Given the description of an element on the screen output the (x, y) to click on. 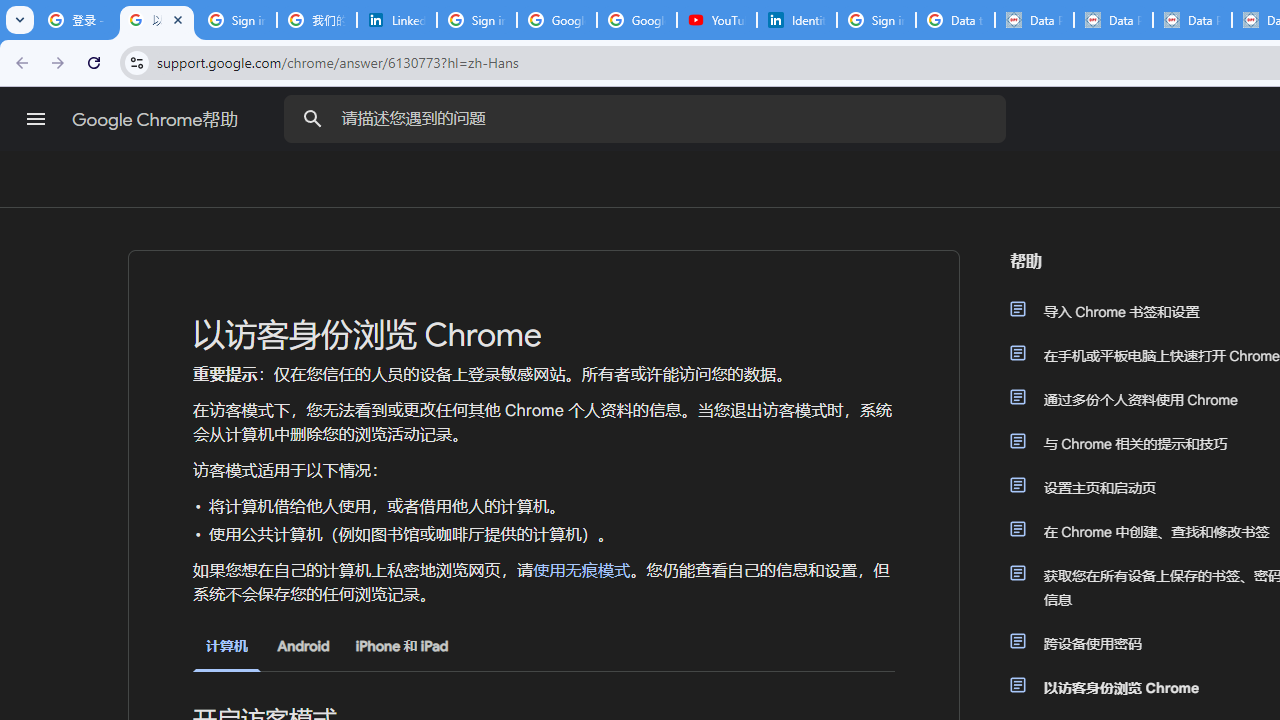
Android (303, 646)
Sign in - Google Accounts (476, 20)
